Given the description of an element on the screen output the (x, y) to click on. 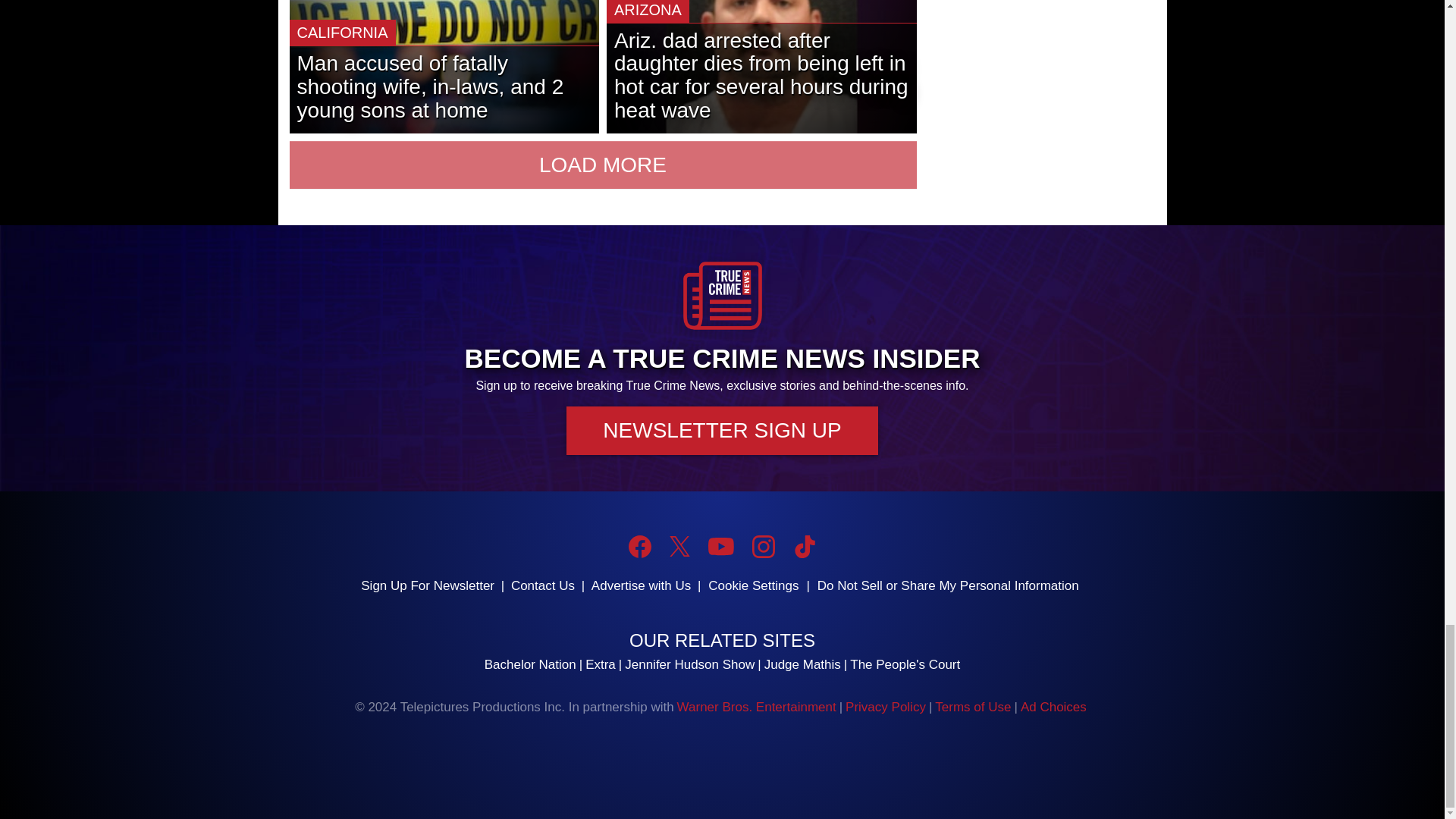
TikTok (804, 546)
YouTube (720, 546)
Instagram (763, 546)
Facebook (639, 546)
Twitter (679, 546)
